Given the description of an element on the screen output the (x, y) to click on. 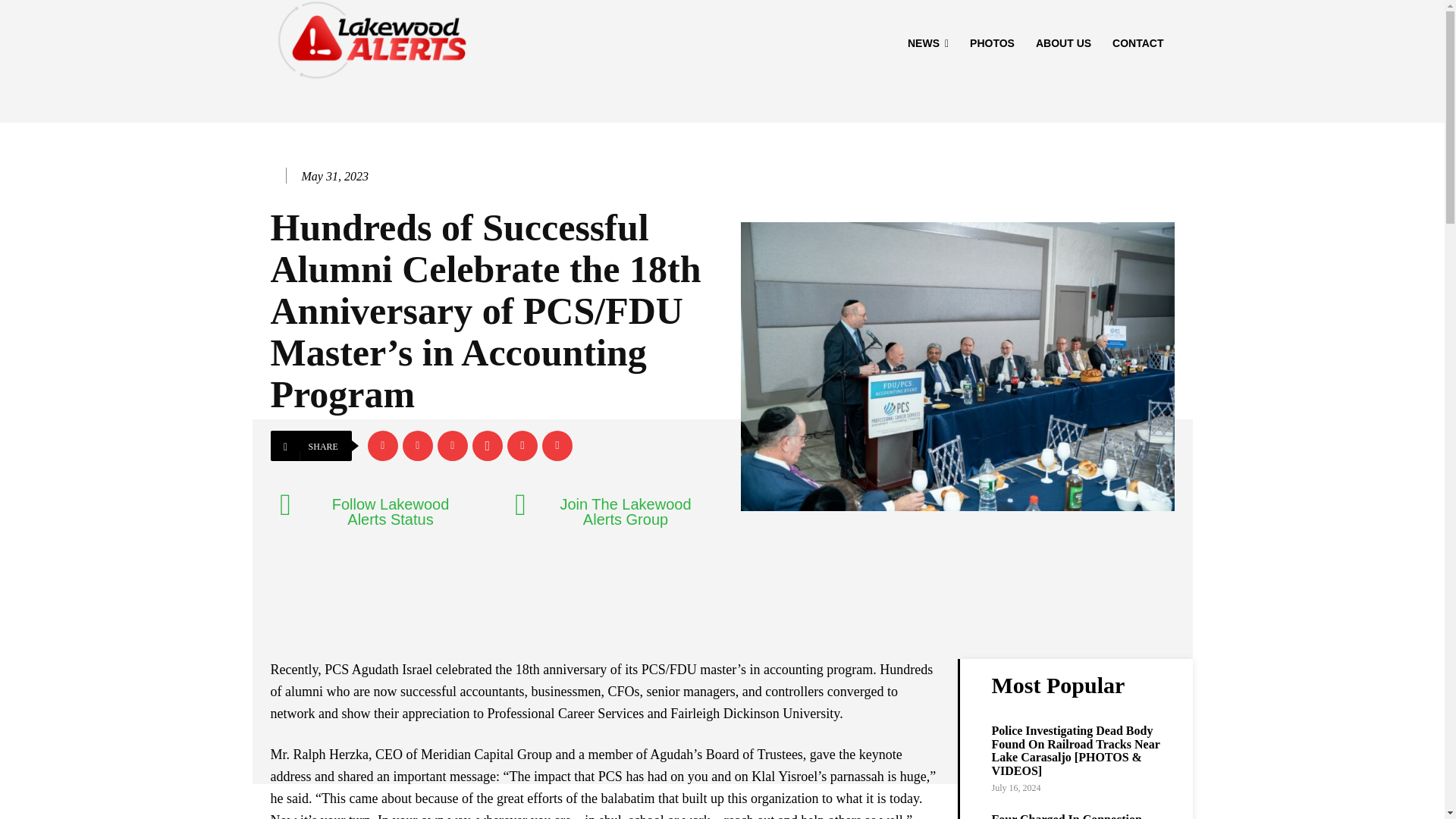
Facebook (382, 445)
IMG-20230531-WA0096 (956, 366)
Email (521, 445)
PHOTOS (992, 43)
Linkedin (452, 445)
Print (556, 445)
Twitter (417, 445)
NEWS (927, 43)
ABOUT US (1063, 43)
WhatsApp (486, 445)
CONTACT (1137, 43)
